Given the description of an element on the screen output the (x, y) to click on. 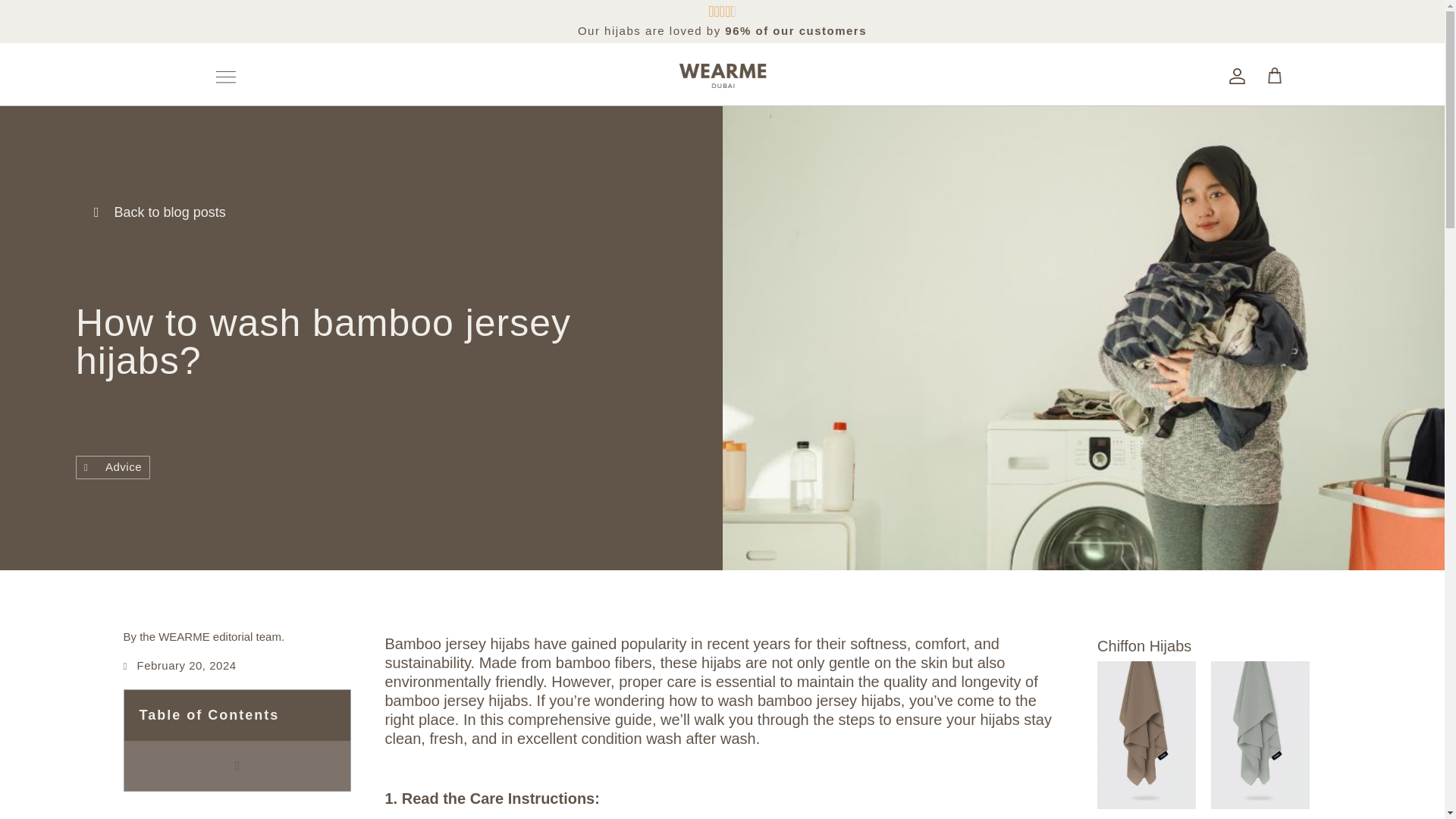
Back to blog posts (159, 212)
hijabs (999, 719)
February 20, 2024 (178, 665)
Advice (122, 466)
